Given the description of an element on the screen output the (x, y) to click on. 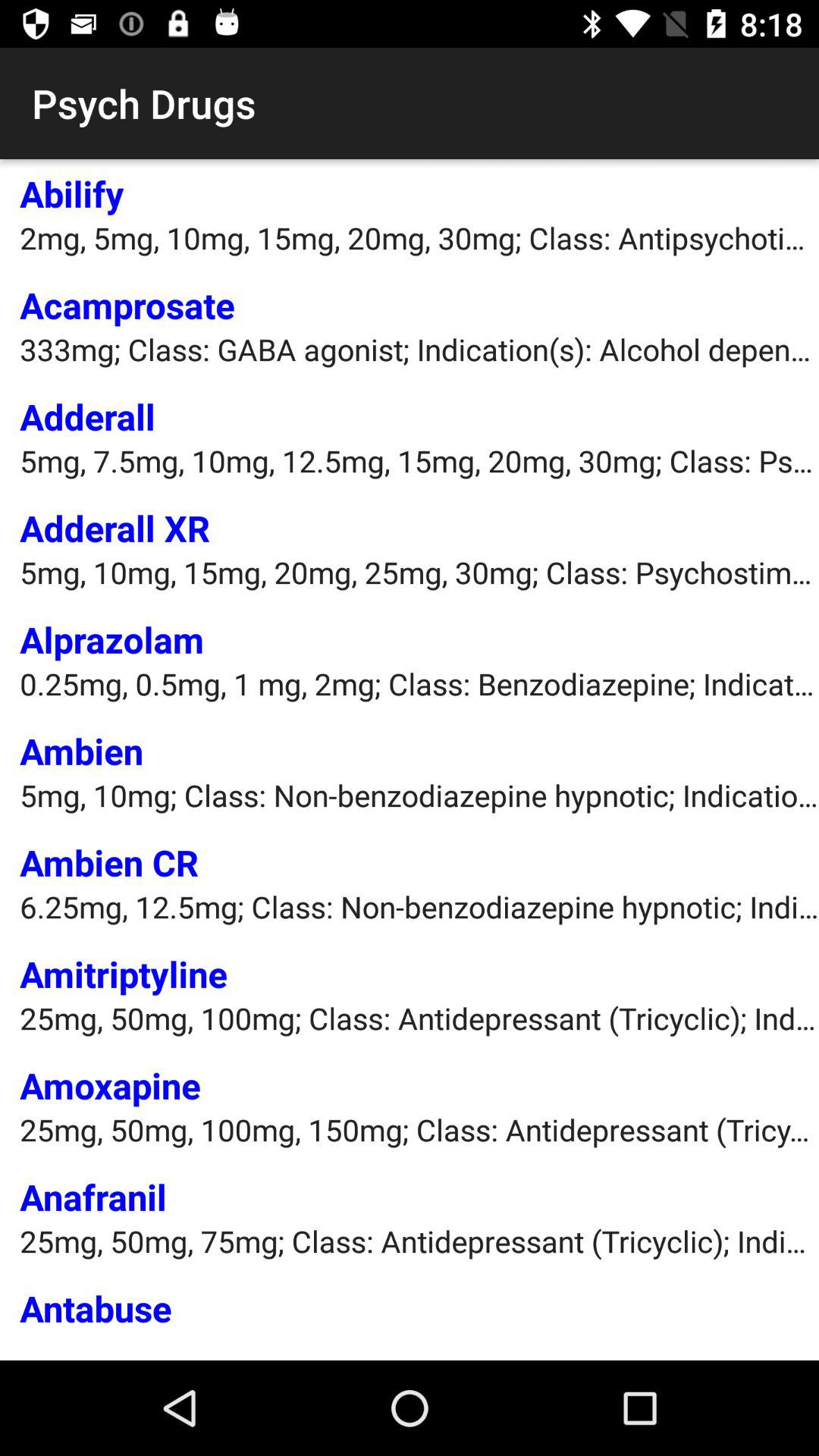
open the icon below the acamprosate icon (419, 349)
